Given the description of an element on the screen output the (x, y) to click on. 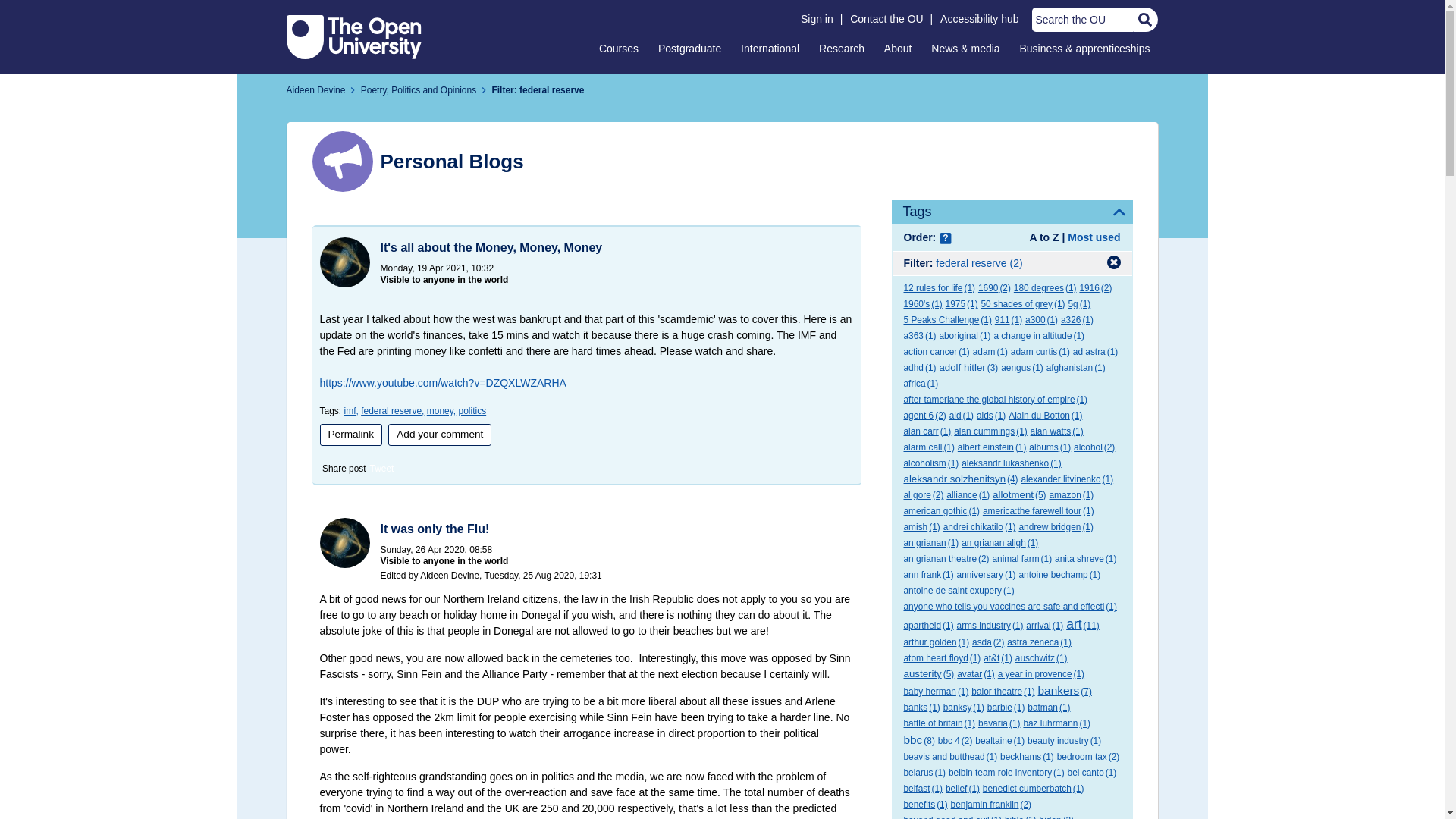
The Open University (354, 36)
Weddin (344, 542)
International (770, 48)
About (898, 48)
Sign in (816, 19)
Contact the OU (886, 19)
Accessibility hub (979, 19)
Research (841, 48)
Aideen Devine (316, 90)
Help with Order: (945, 238)
